Given the description of an element on the screen output the (x, y) to click on. 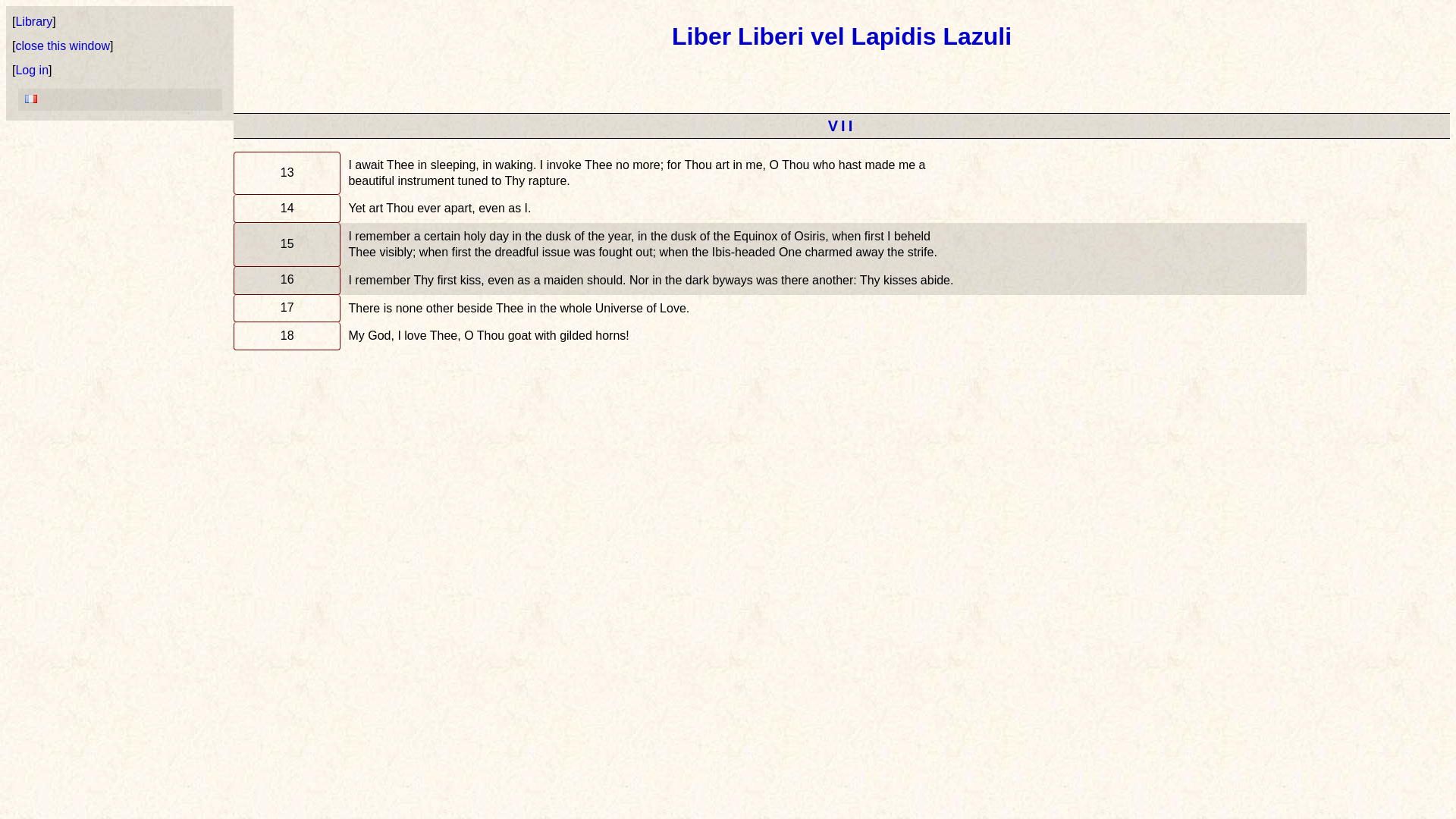
Library (33, 21)
Chapter 7 (842, 125)
VII (842, 125)
close this window (62, 45)
Log in (31, 69)
liber 7, 7:13 (286, 173)
liber 7, 7:16 (286, 280)
Liber Liberi vel Lapidis Lazuli (841, 35)
liber 7, 7:15 (286, 244)
liber 7, 7:17 (286, 308)
